Given the description of an element on the screen output the (x, y) to click on. 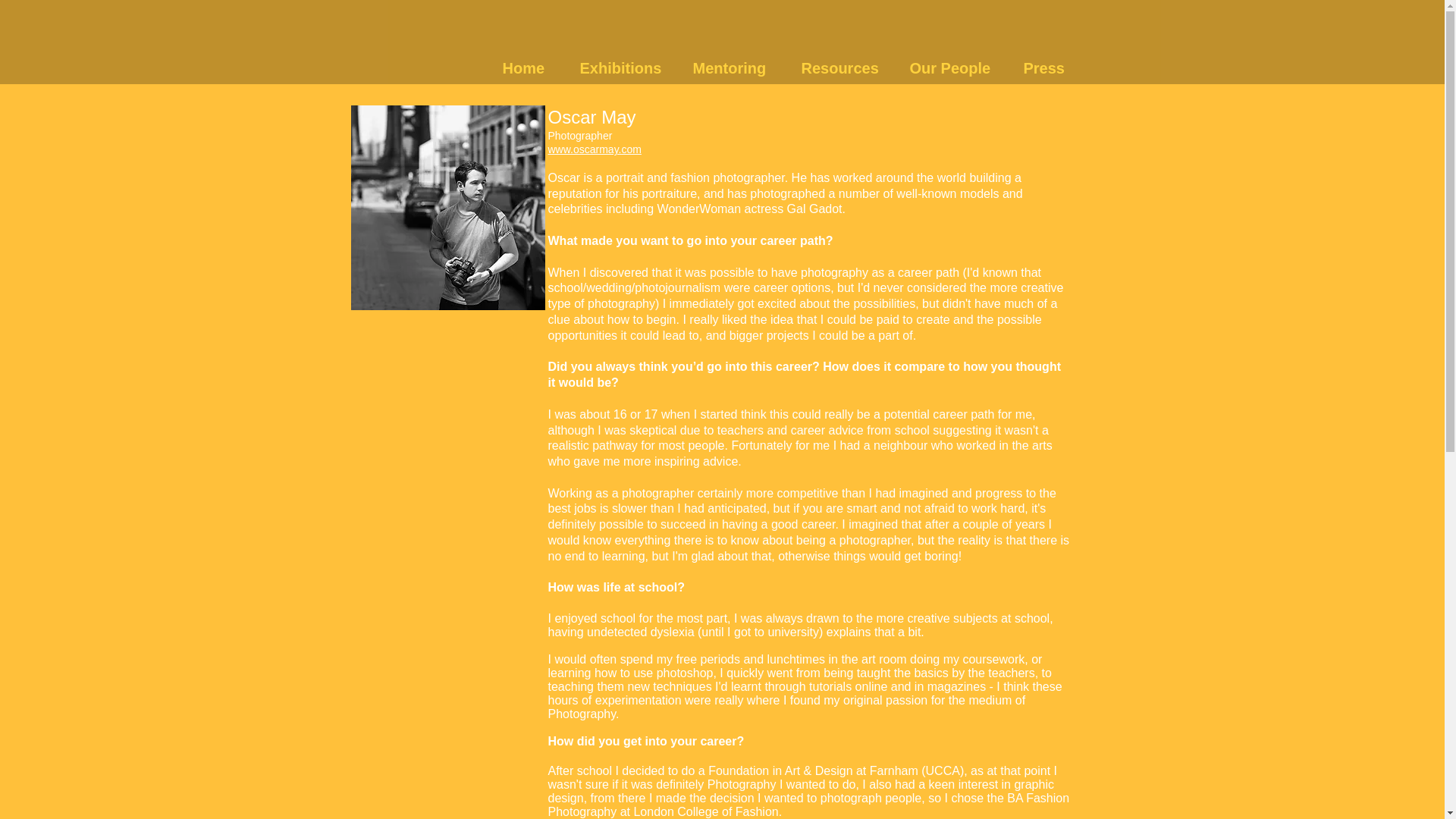
Resources (847, 67)
www.oscarmay.com (593, 149)
Press (1051, 67)
Our People (959, 67)
Home (533, 67)
